Given the description of an element on the screen output the (x, y) to click on. 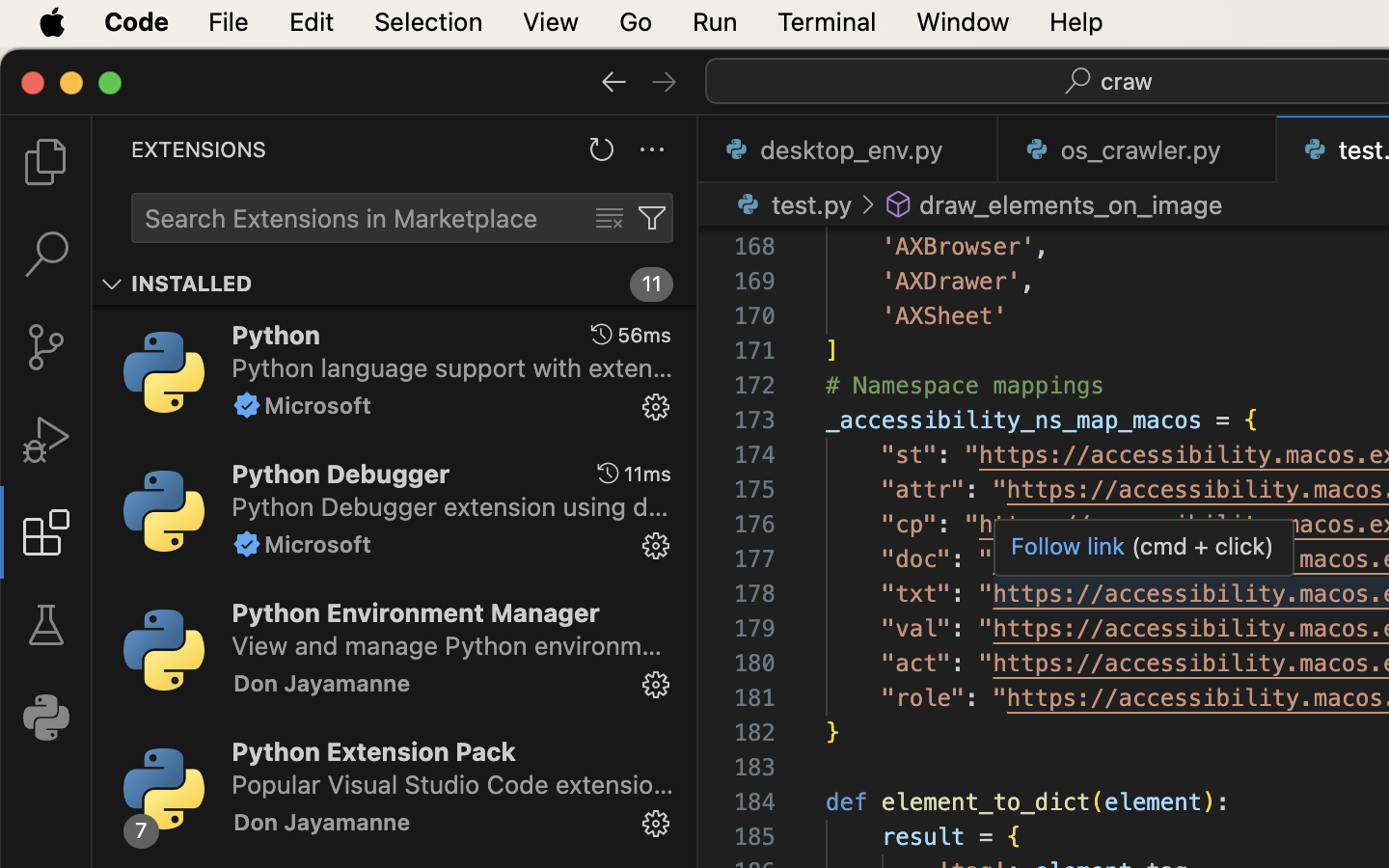
 Element type: AXStaticText (111, 283)
0 os_crawler.py   Element type: AXRadioButton (1138, 149)
56ms Element type: AXStaticText (644, 334)
 Element type: AXStaticText (651, 217)
 Element type: AXStaticText (246, 404)
